Given the description of an element on the screen output the (x, y) to click on. 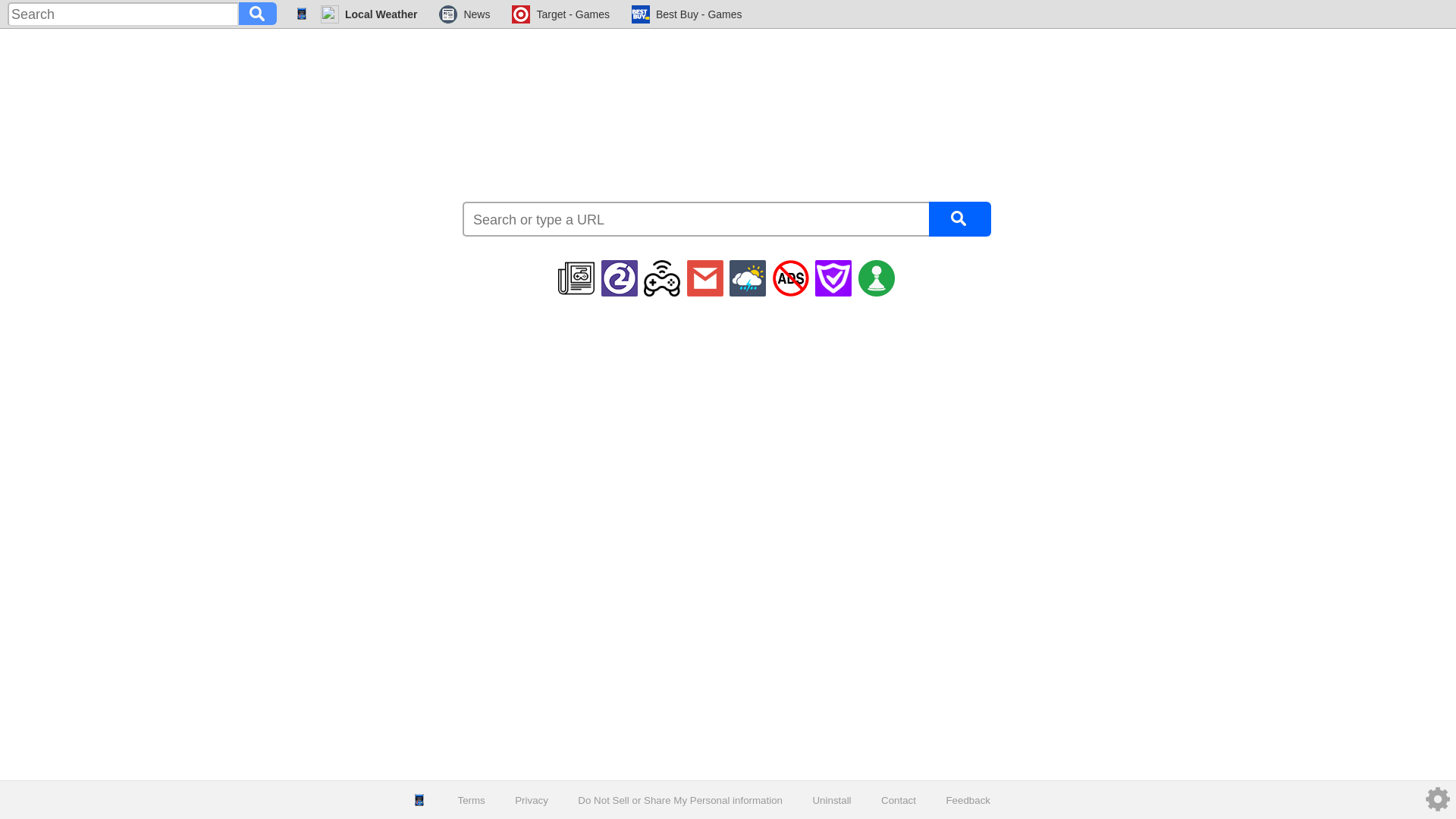
Go to Weather (368, 14)
Shop games at Best Buy (687, 14)
Contact (897, 800)
Uninstall (831, 800)
Target - Games (559, 14)
Go to 2Game (619, 278)
Email (705, 278)
Go to Gaming News (575, 278)
Go to News (464, 14)
Best Buy - Games (687, 14)
